Given the description of an element on the screen output the (x, y) to click on. 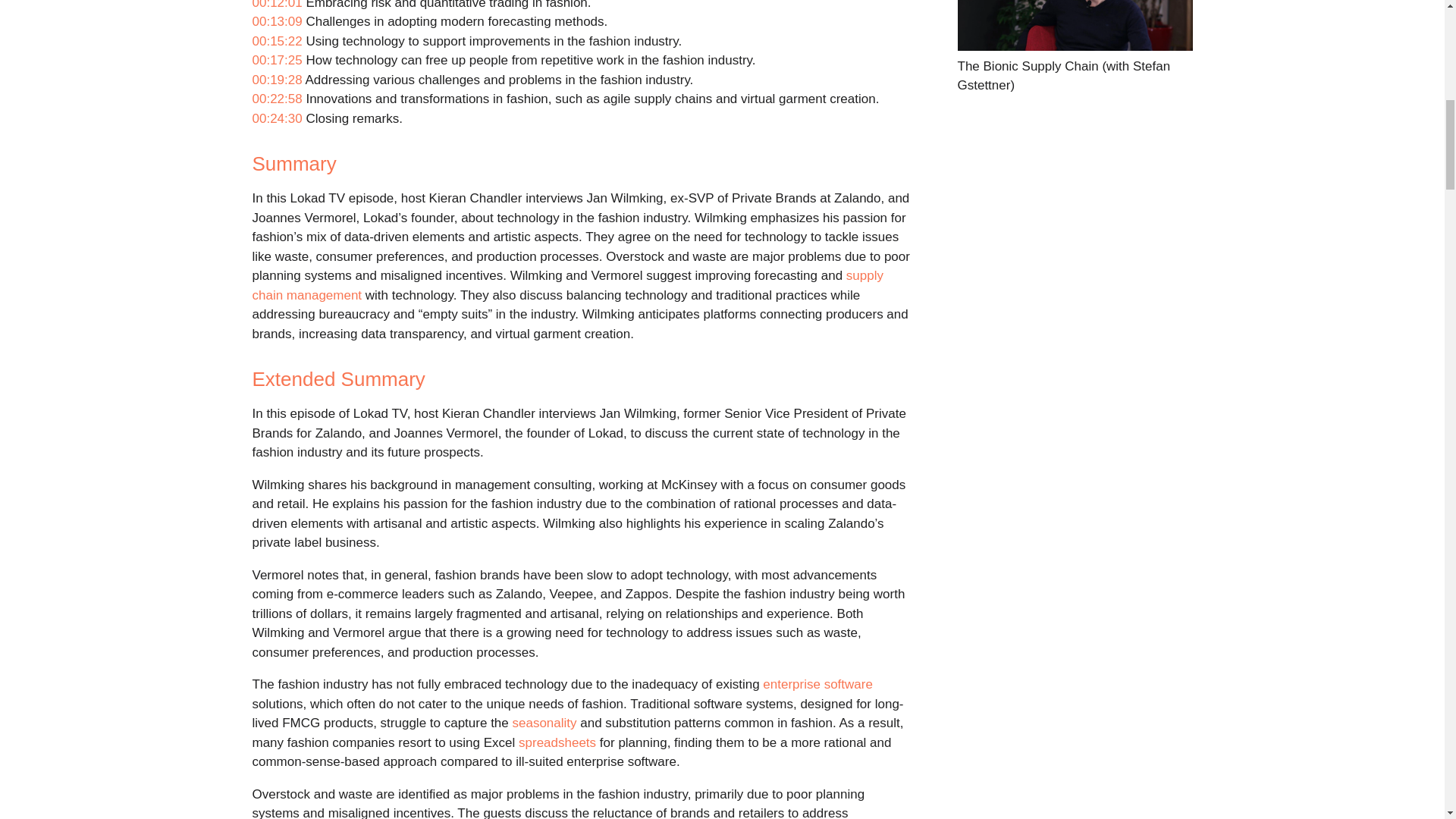
00:17:25 (276, 60)
enterprise software (817, 684)
00:12:01 (276, 4)
00:24:30 (276, 118)
supply chain management (566, 285)
00:19:28 (276, 79)
00:13:09 (276, 21)
00:15:22 (276, 41)
00:22:58 (276, 98)
seasonality (544, 722)
